Given the description of an element on the screen output the (x, y) to click on. 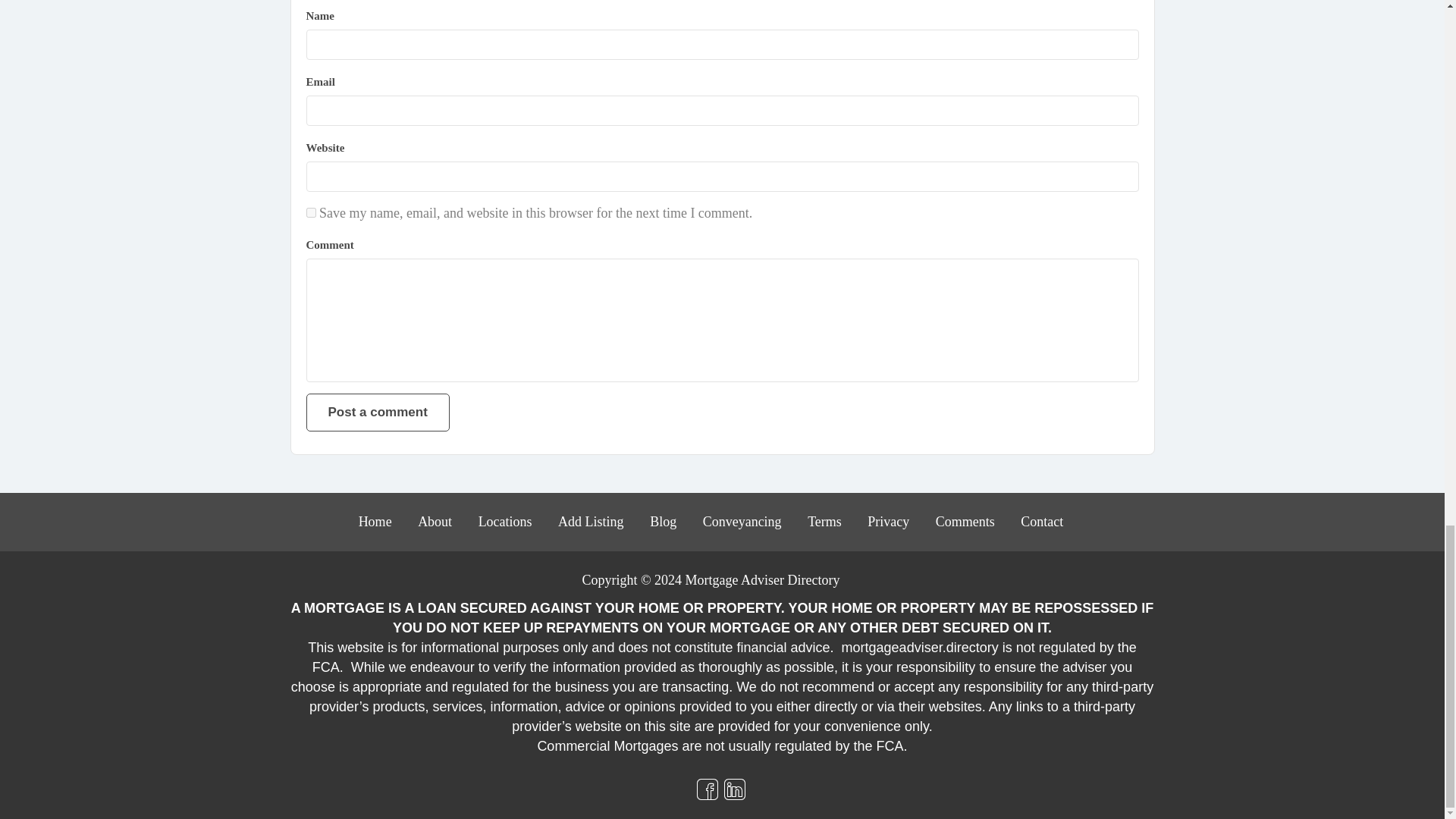
Post a comment (377, 412)
yes (310, 212)
